Given the description of an element on the screen output the (x, y) to click on. 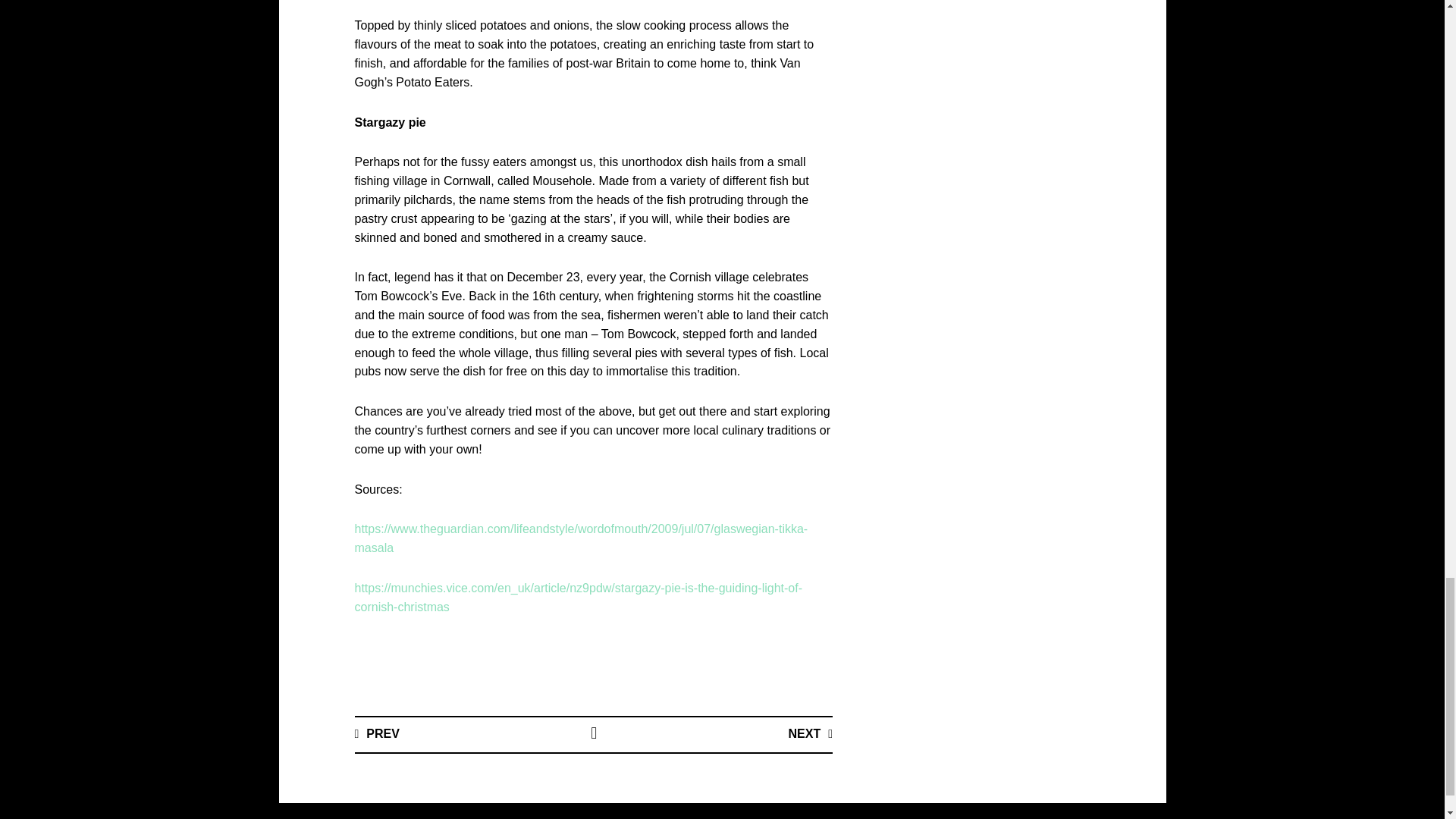
PREV (376, 733)
NEXT (809, 733)
